Given the description of an element on the screen output the (x, y) to click on. 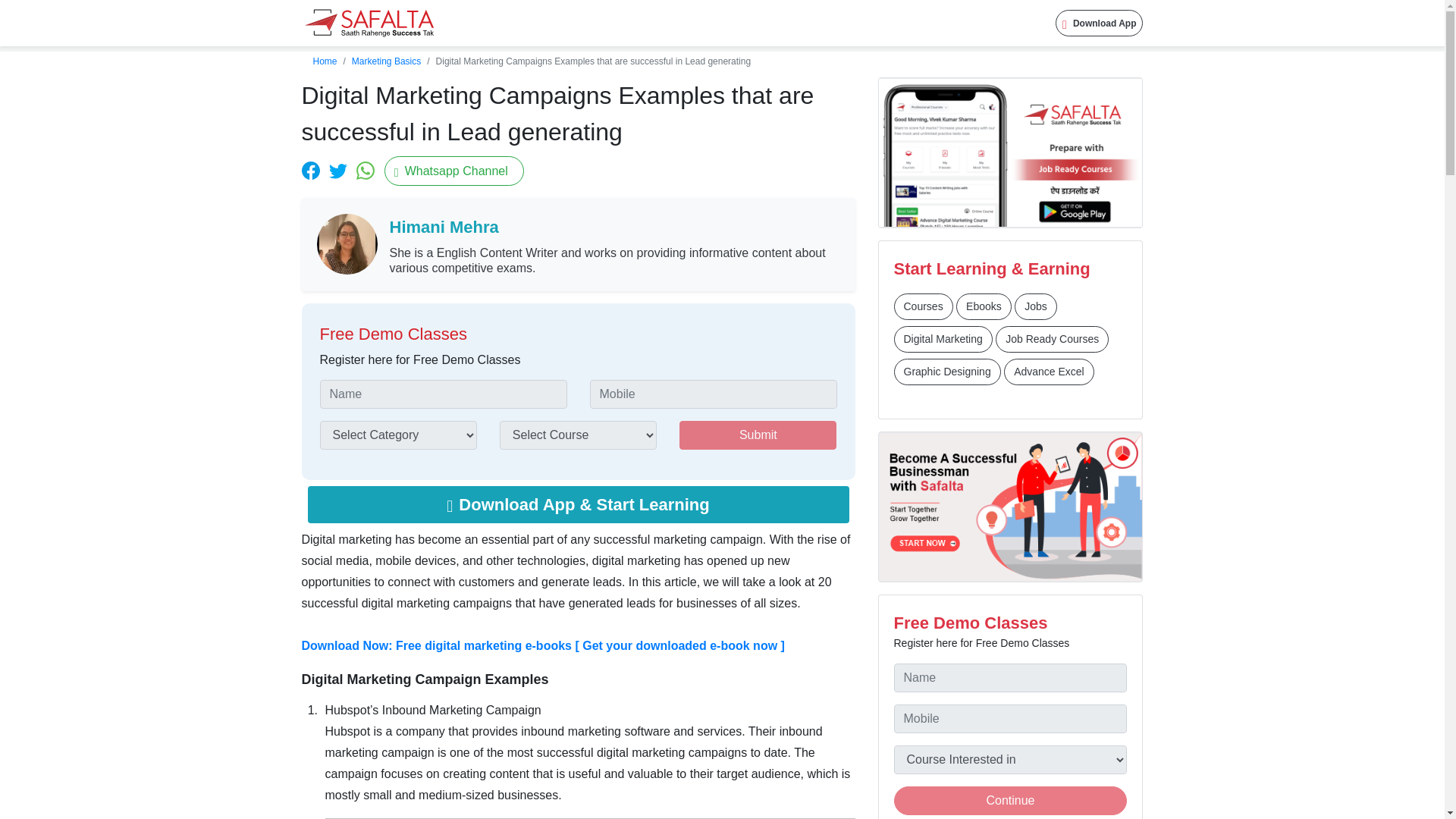
Himani Mehra (615, 225)
Start learning with - Digital Marketing (942, 338)
Marketing Basics (386, 60)
Submit (757, 434)
Safalta (368, 22)
Start learning with - Ebooks (983, 306)
Download App (1098, 22)
Whatsapp Channel (454, 170)
Start learning with - Graphic Designing (946, 371)
Start learning with - Advance Excel (1049, 371)
